Given the description of an element on the screen output the (x, y) to click on. 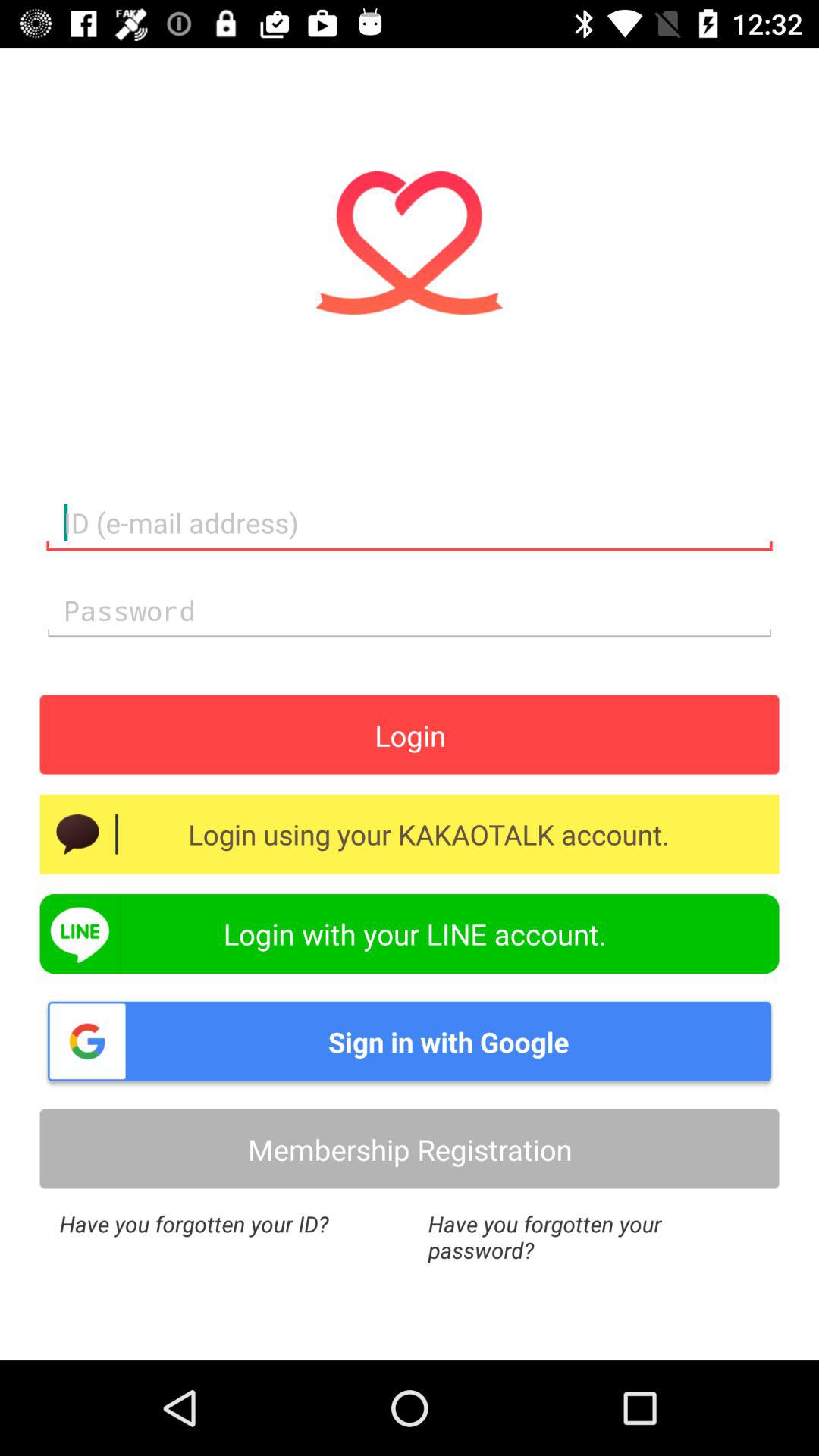
tap item above login item (409, 610)
